Given the description of an element on the screen output the (x, y) to click on. 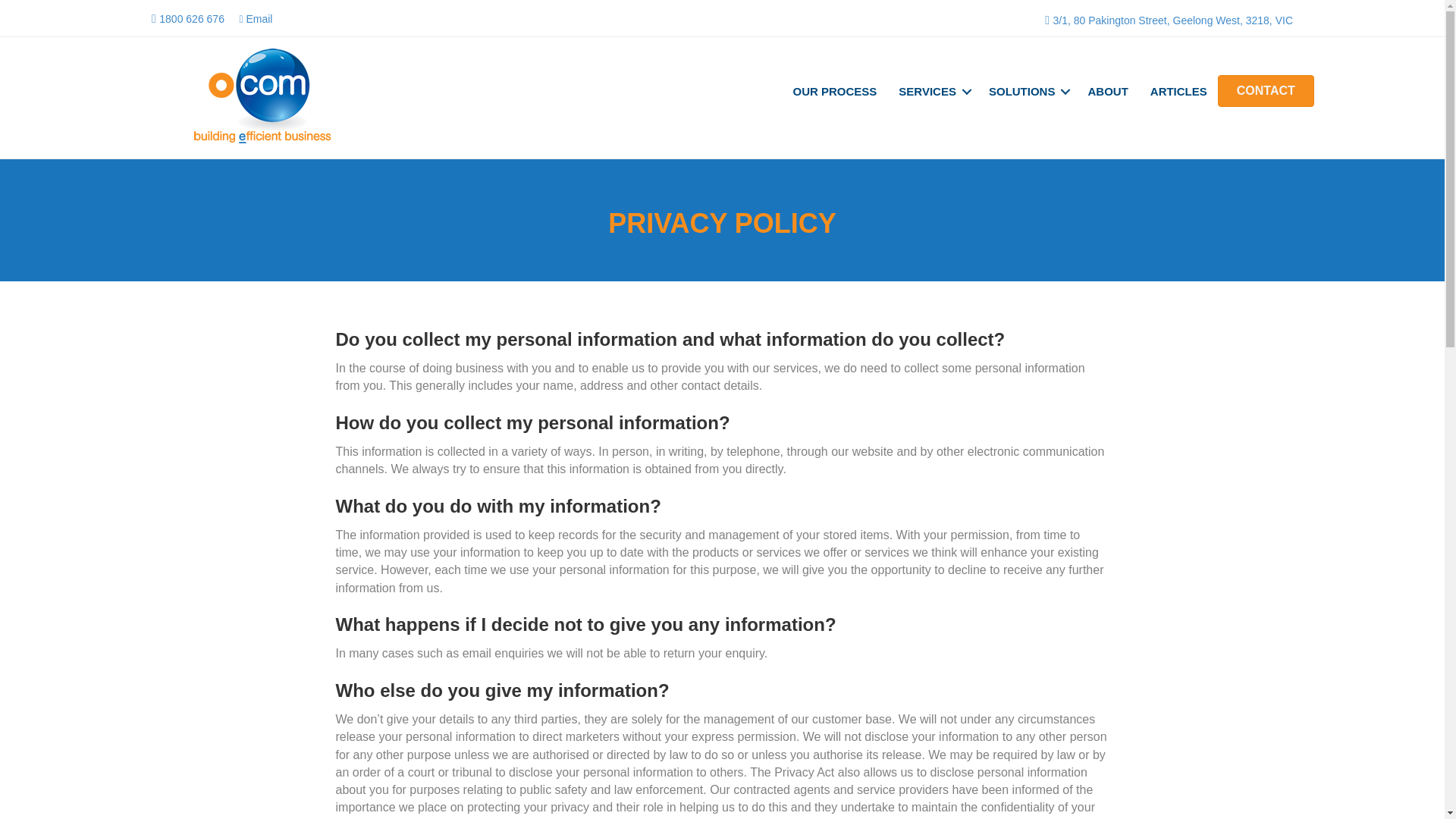
CONTACT (1265, 91)
ARTICLES (1178, 91)
Email (255, 18)
SERVICES (932, 91)
SOLUTIONS (1027, 91)
ABOUT (1107, 91)
ocom-logo (261, 95)
1800 626 676 (187, 18)
OUR PROCESS (835, 91)
